Given the description of an element on the screen output the (x, y) to click on. 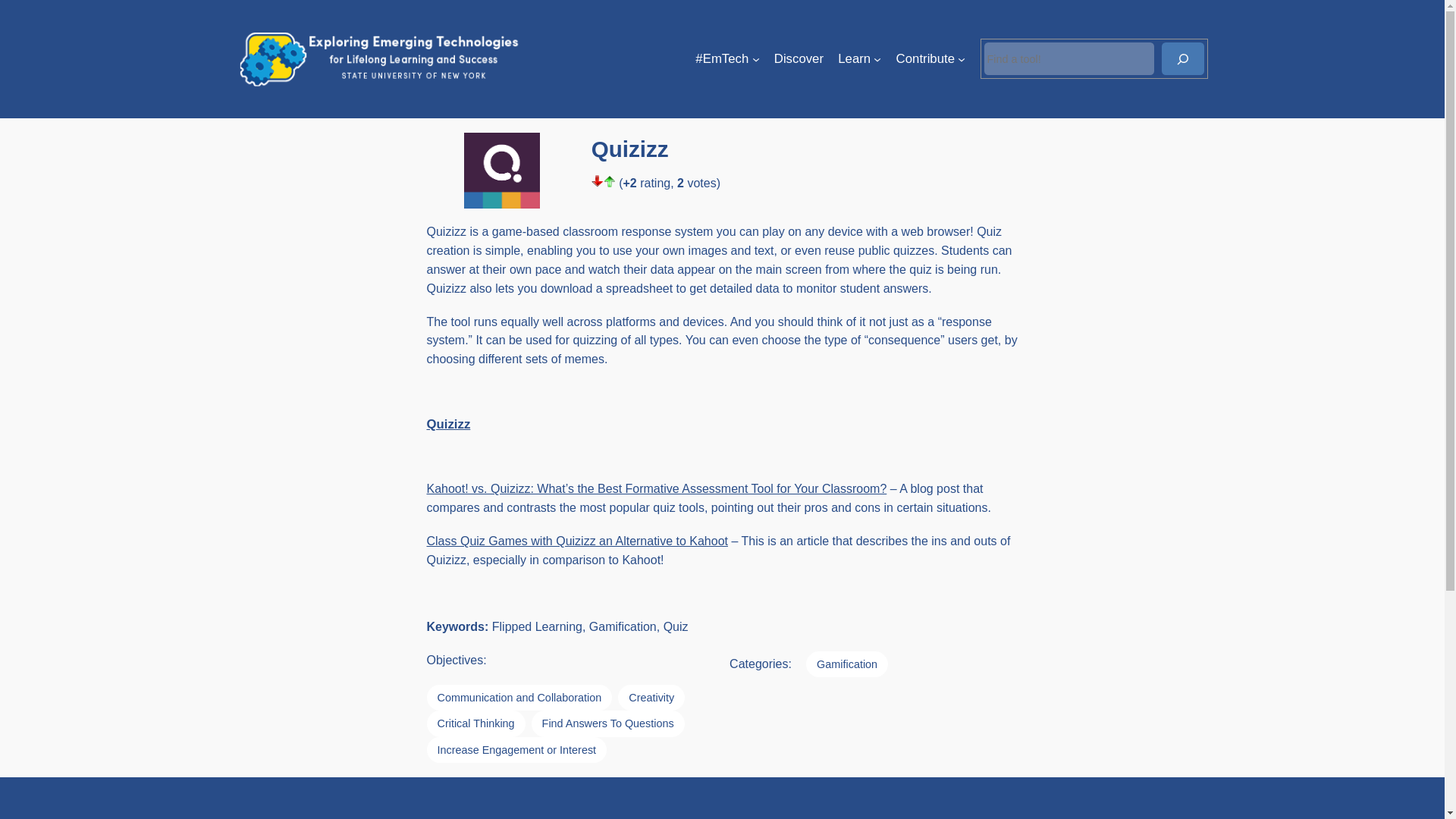
Vote Up (609, 181)
Contribute (925, 58)
Communication and Collaboration (518, 697)
Creativity (650, 697)
Class Quiz Games with Quizizz an Alternative to Kahoot (577, 540)
Gamification (847, 664)
Discover (799, 58)
Find Answers To Questions (607, 723)
Quizizz (448, 423)
Vote Down (597, 181)
Critical Thinking (475, 723)
Increase Engagement or Interest (516, 749)
Learn (854, 58)
